Given the description of an element on the screen output the (x, y) to click on. 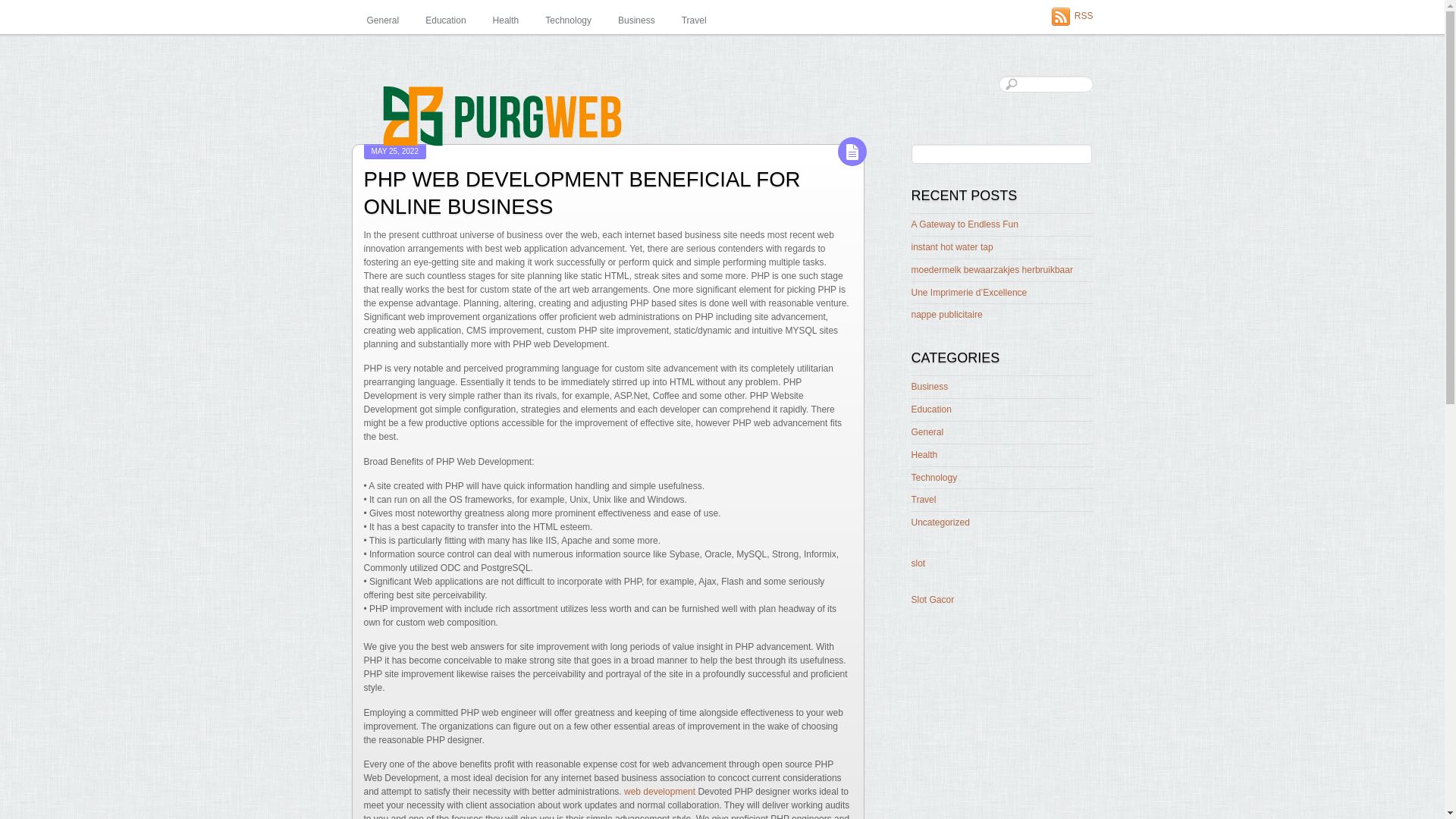
New 25 logo-45 (541, 115)
nappe publicitaire (946, 314)
instant hot water tap (951, 246)
Business (636, 20)
Slot Gacor (933, 599)
Search (1001, 153)
A Gateway to Endless Fun (964, 224)
Uncategorized (940, 521)
slot (918, 562)
Technology (568, 20)
Health (924, 454)
PHP WEB DEVELOPMENT BENEFICIAL FOR ONLINE BUSINESS (582, 192)
Technology (934, 477)
Travel (923, 499)
General (382, 20)
